Given the description of an element on the screen output the (x, y) to click on. 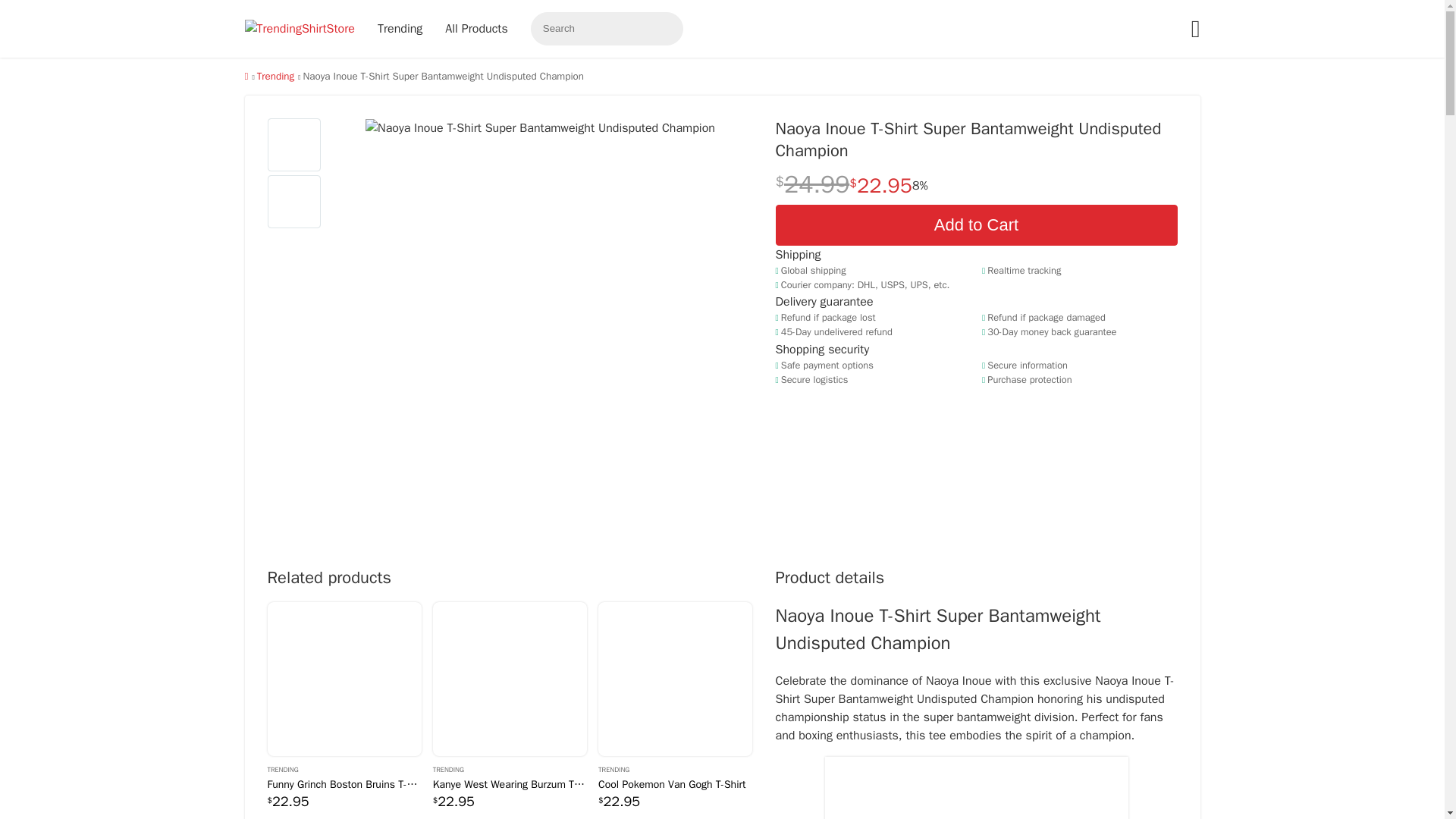
Kanye West Wearing Burzum T-Shirt (509, 678)
Naoya Inoue T-Shirt Super Bantamweight Undisputed Champion (293, 144)
Trending (675, 768)
Cool Pokemon Van Gogh T-Shirt (675, 784)
Funny Grinch Boston Bruins T-Shirt (343, 678)
Trending (343, 768)
Cool Pokemon Van Gogh T-Shirt (675, 678)
Cool Pokemon Van Gogh T-Shirt (675, 678)
Kanye West Wearing Burzum T-Shirt (509, 784)
Funny Grinch Boston Bruins T-Shirt (343, 784)
